Given the description of an element on the screen output the (x, y) to click on. 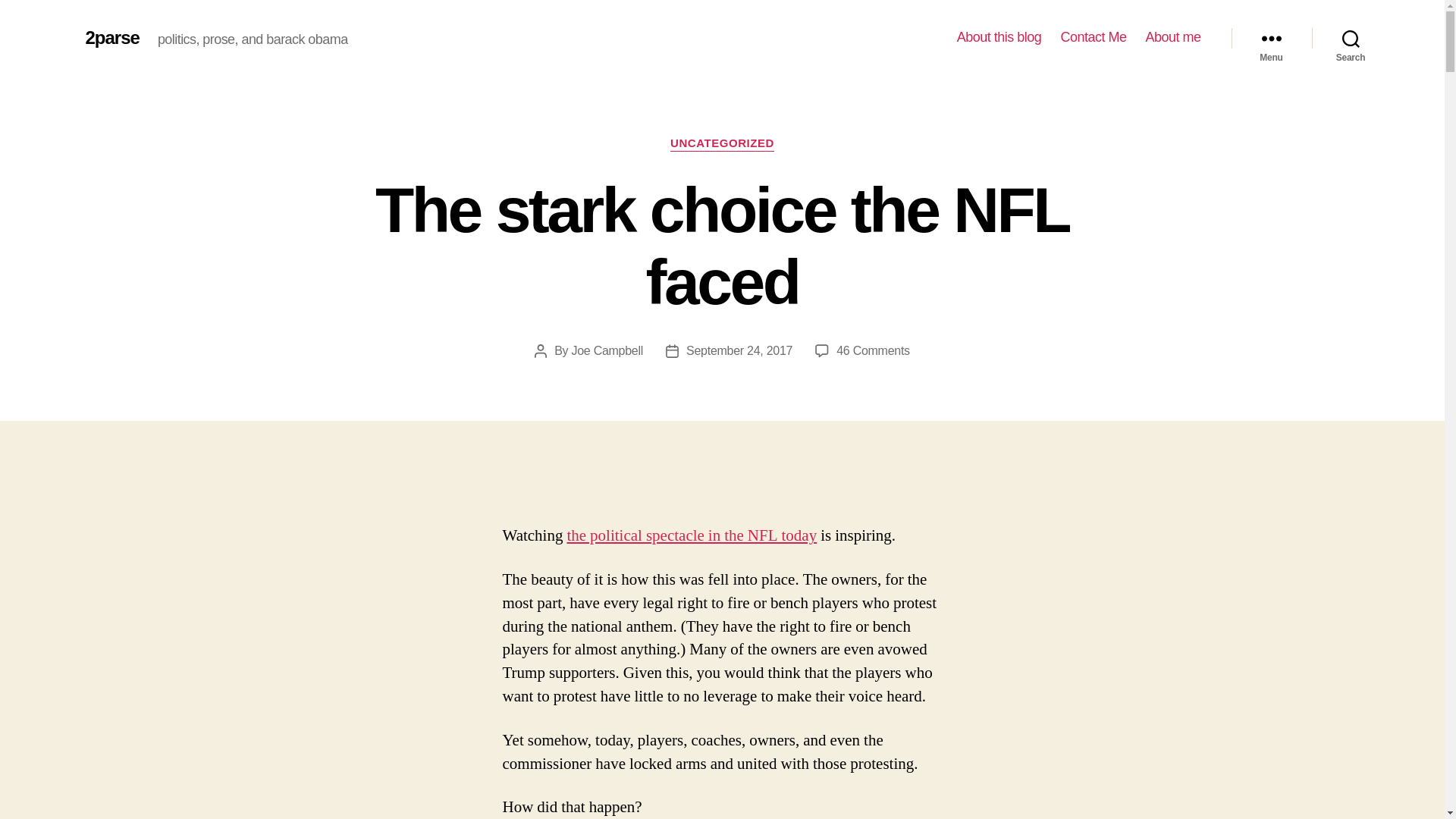
September 24, 2017 (738, 350)
Joe Campbell (606, 350)
Contact Me (1092, 37)
Menu (1271, 37)
UNCATEGORIZED (721, 143)
About me (1171, 37)
About this blog (872, 350)
2parse (999, 37)
the political spectacle in the NFL today (111, 37)
